Given the description of an element on the screen output the (x, y) to click on. 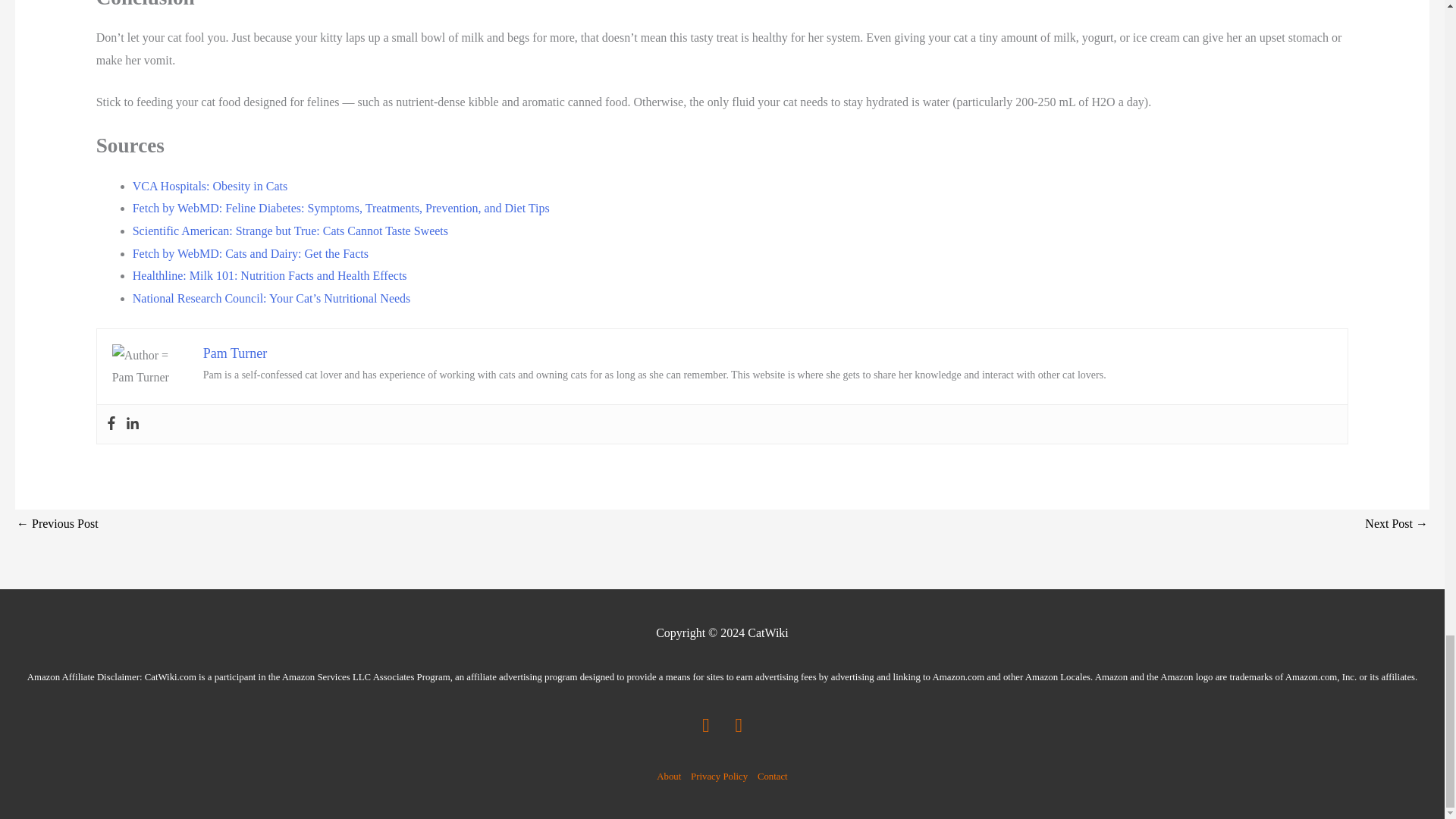
Why Do Cats Like Crinkly Paper? (57, 524)
Fetch by WebMD: Cats and Dairy: Get the Facts (250, 253)
Why Do Cats Stare at Their Owners? (1396, 524)
Healthline: Milk 101: Nutrition Facts and Health Effects (269, 275)
Pam Turner (235, 353)
VCA Hospitals: Obesity in Cats (209, 185)
